Given the description of an element on the screen output the (x, y) to click on. 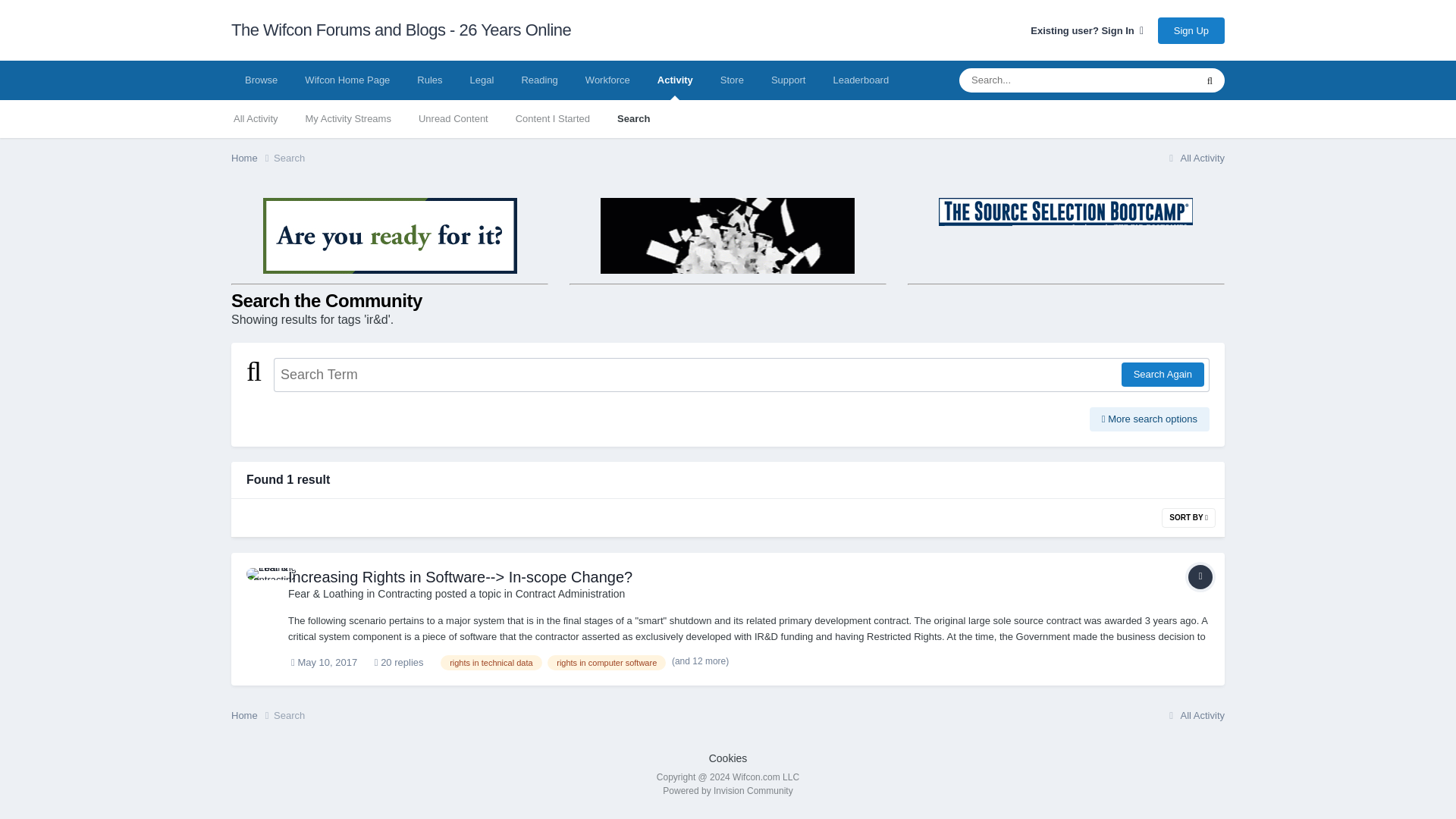
Sign Up (1190, 29)
Topic (1200, 576)
Reading (538, 79)
Legal (482, 79)
Find other content tagged with 'rights in computer software' (606, 662)
Rules (429, 79)
Browse (261, 79)
Wifcon Home Page (347, 79)
Find other content tagged with 'rights in technical data' (491, 662)
Home (252, 158)
